Given the description of an element on the screen output the (x, y) to click on. 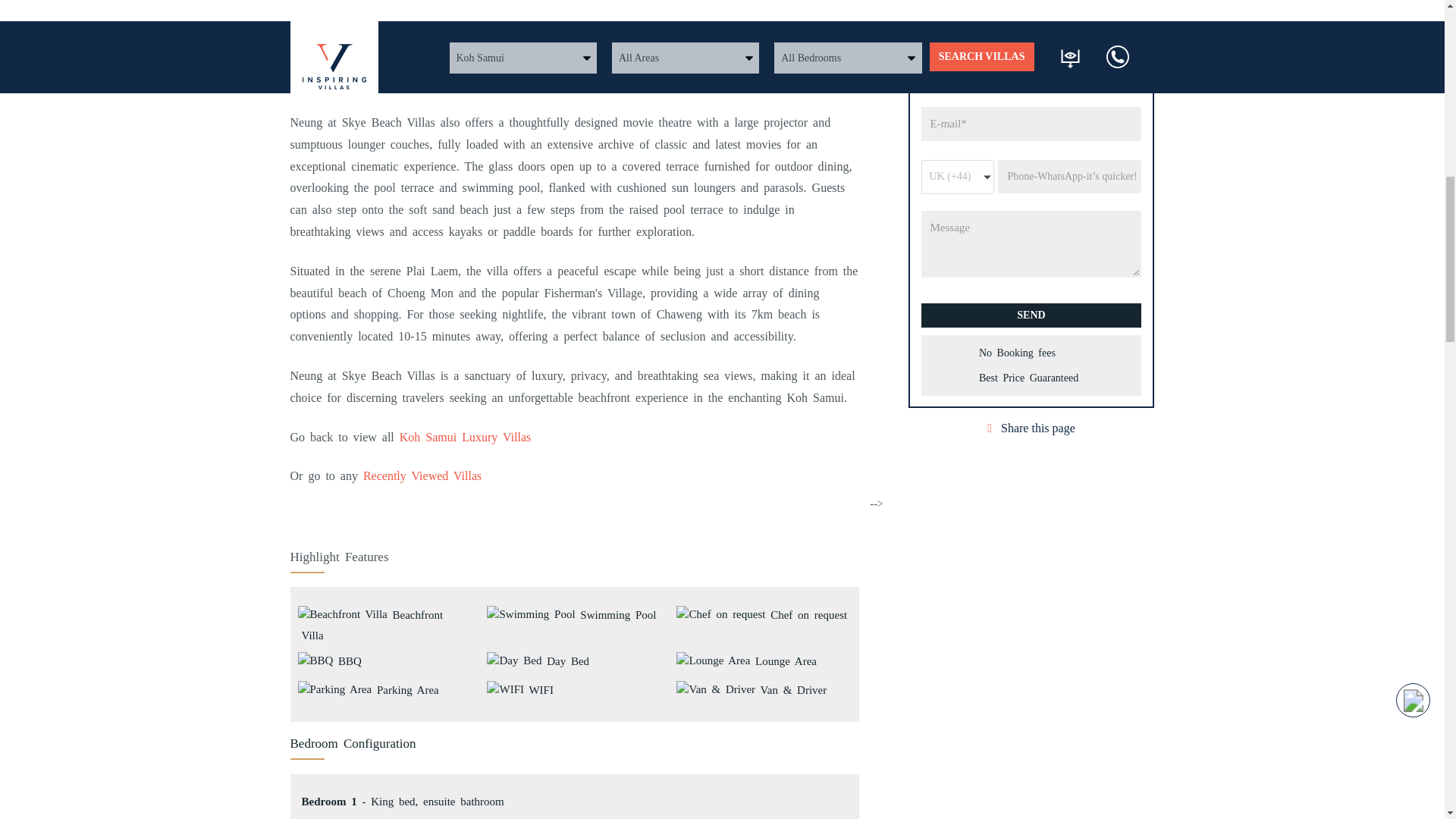
Koh Samui Luxury Villas (464, 436)
